Given the description of an element on the screen output the (x, y) to click on. 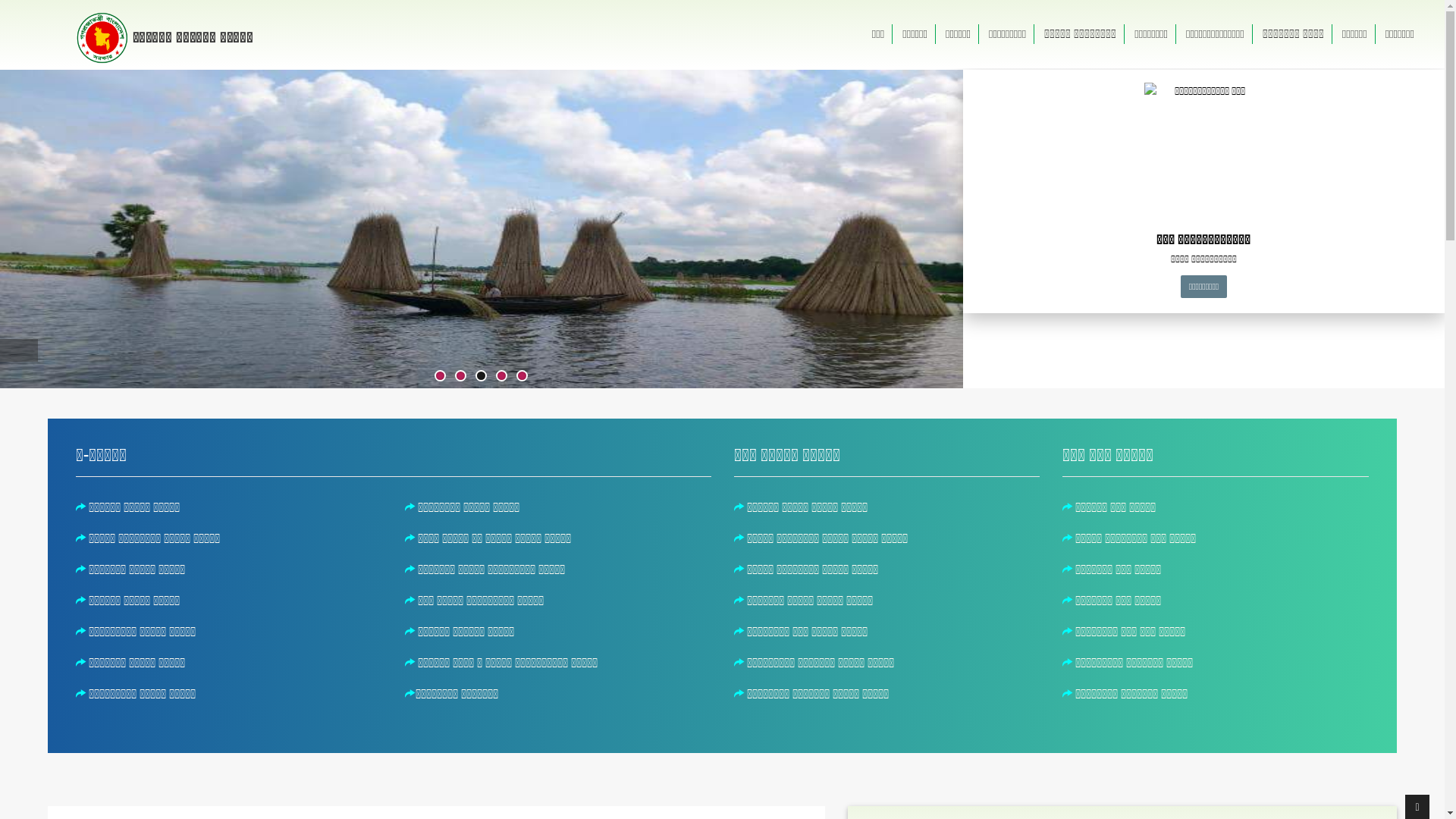
5 Element type: text (521, 375)
2 Element type: text (460, 375)
4 Element type: text (501, 375)
3 Element type: text (480, 375)
1 Element type: text (440, 375)
